Given the description of an element on the screen output the (x, y) to click on. 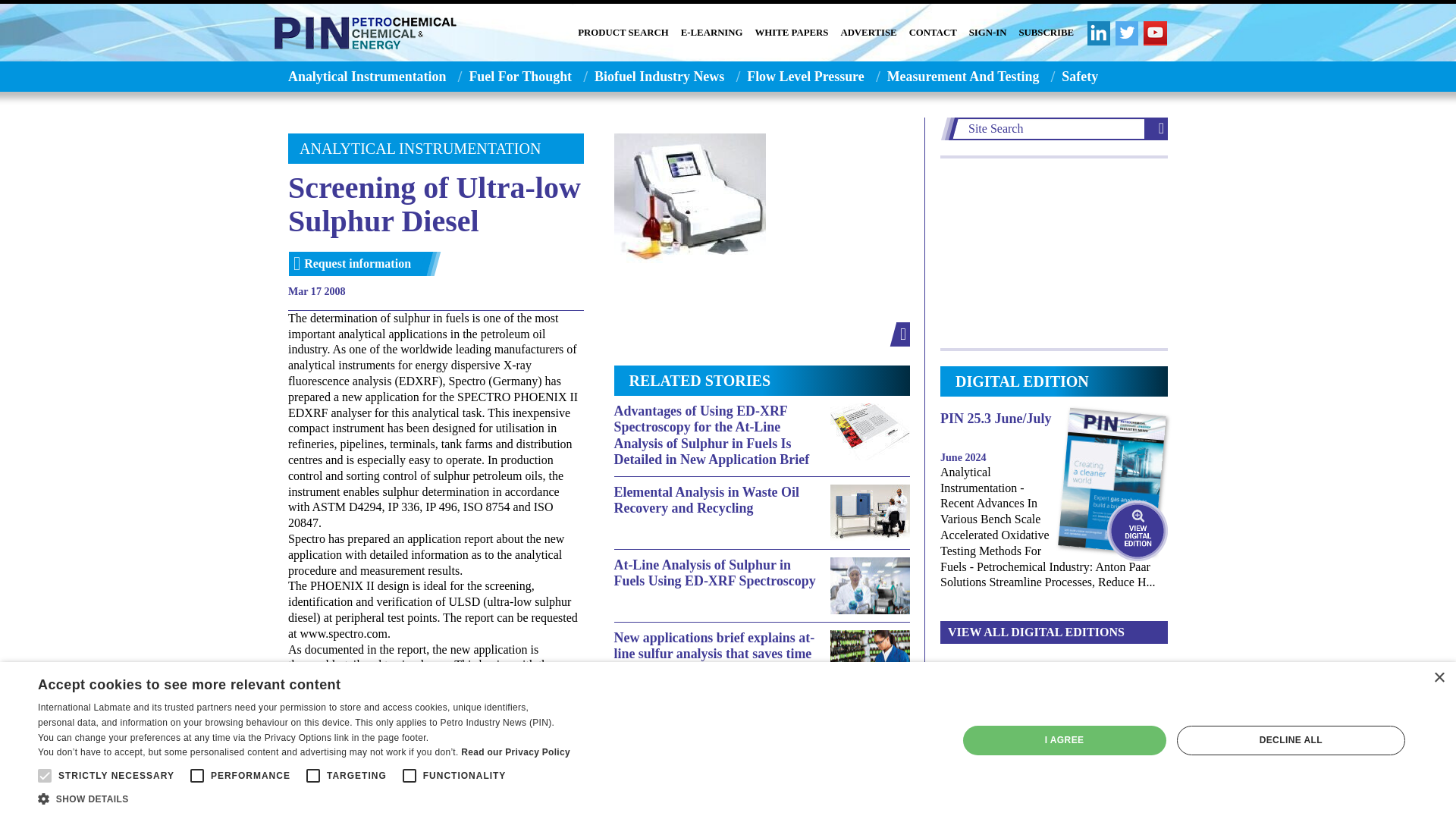
SUBSCRIBE (1045, 32)
E-LEARNING (711, 32)
ADVERTISE (868, 32)
Fuel For Thought (520, 76)
SIGN-IN (988, 32)
3rd party ad content (1053, 253)
Analytical Instrumentation (362, 76)
PRODUCT SEARCH (623, 32)
WHITE PAPERS (791, 32)
CONTACT (932, 32)
